Given the description of an element on the screen output the (x, y) to click on. 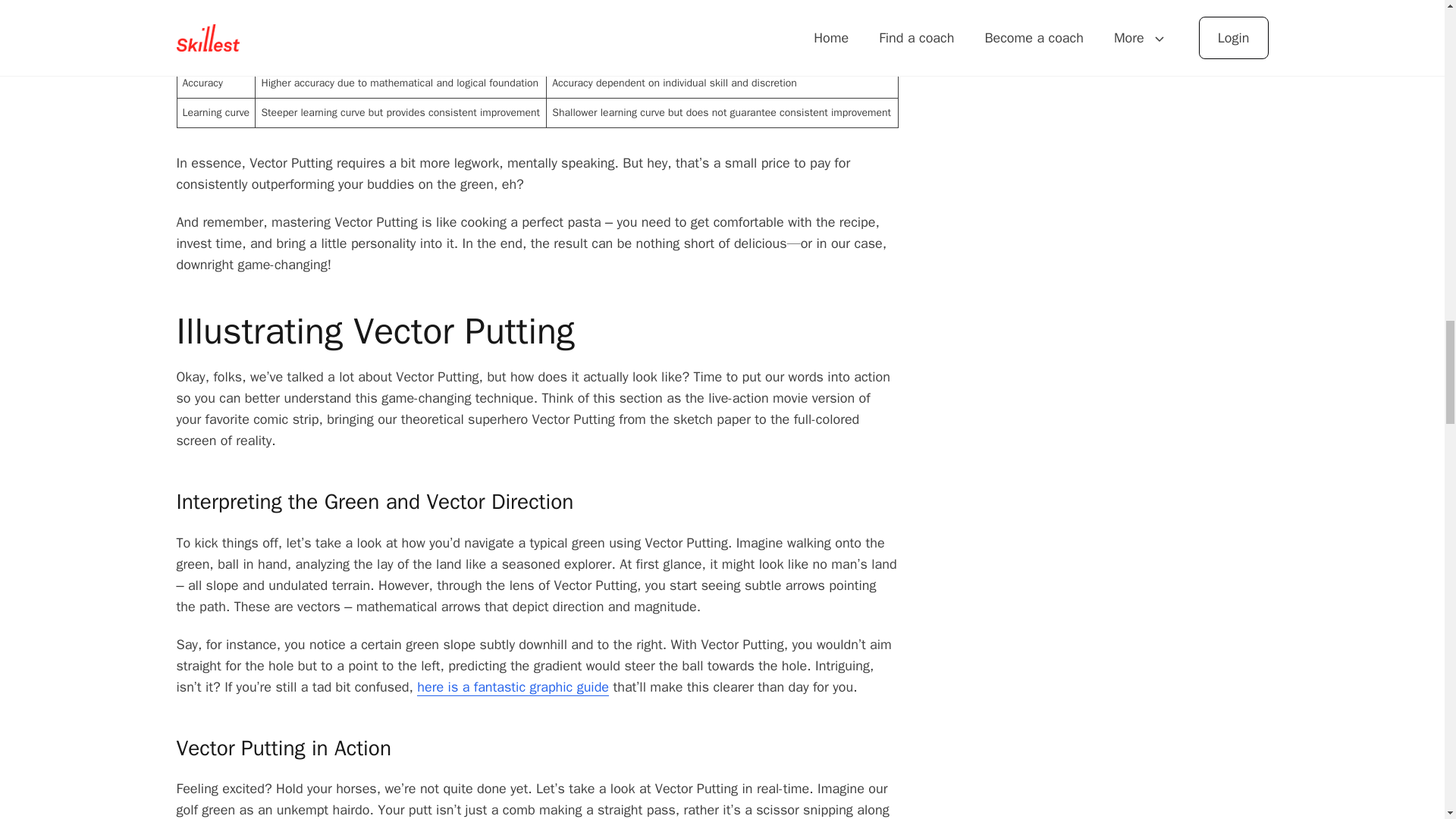
here is a fantastic graphic guide (512, 687)
